Given the description of an element on the screen output the (x, y) to click on. 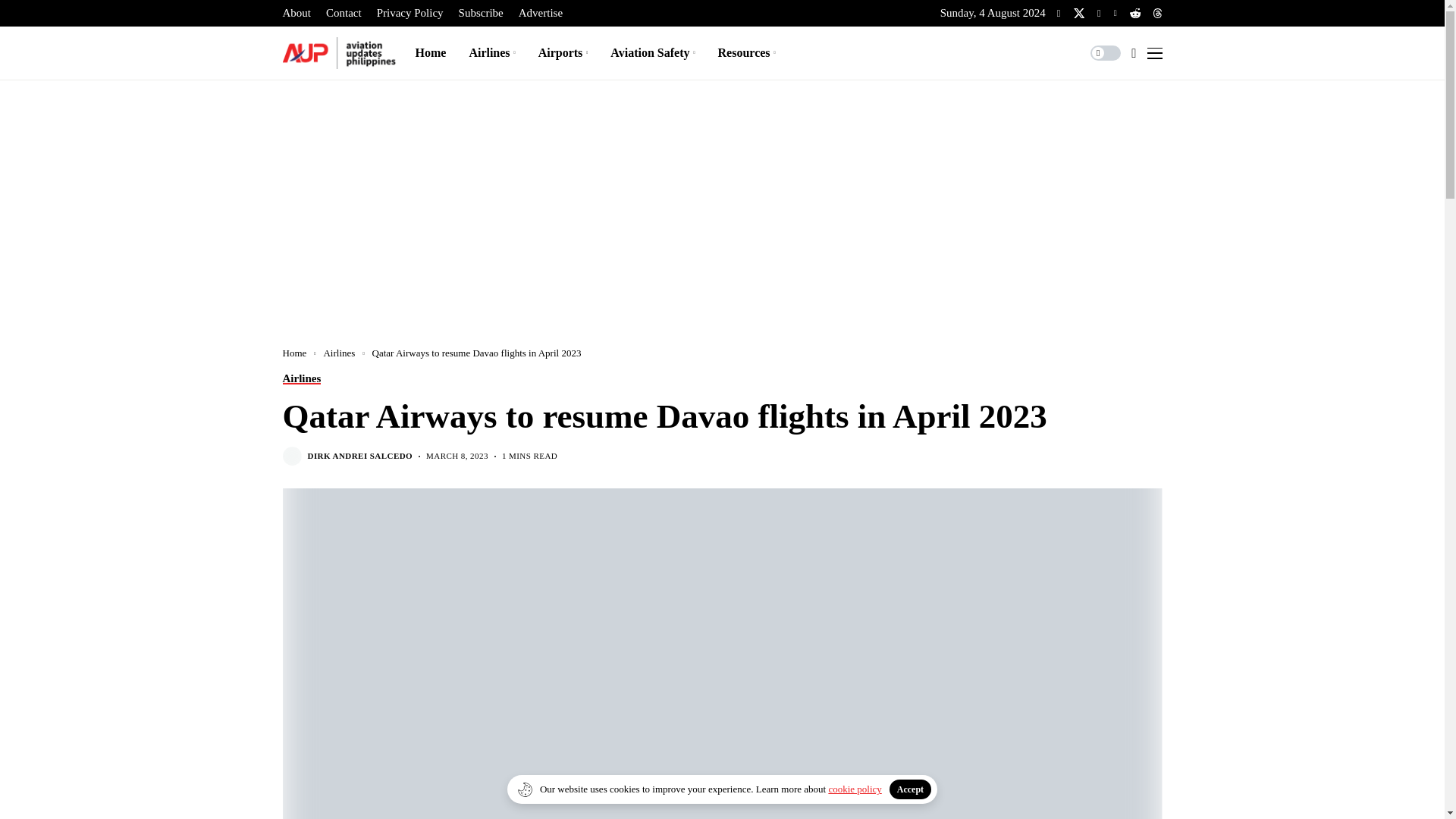
Aviation Safety (652, 52)
Posts by Dirk Andrei Salcedo (360, 456)
Subscribe (480, 13)
Contact (343, 13)
Airports (563, 52)
About (296, 13)
Privacy Policy (410, 13)
Advertise (540, 13)
